Given the description of an element on the screen output the (x, y) to click on. 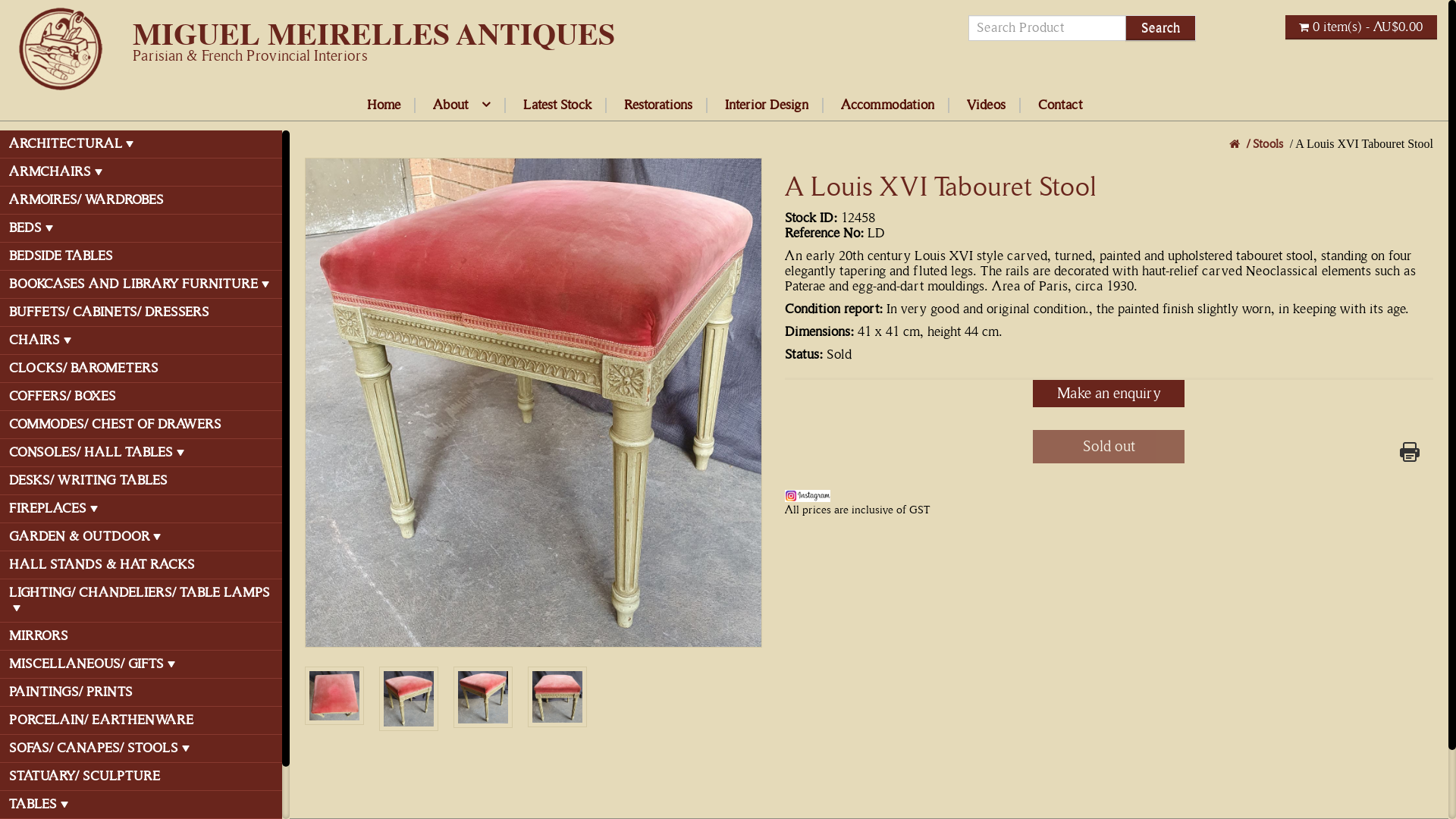
About Element type: text (461, 104)
COMMODES/ CHEST OF DRAWERS Element type: text (141, 425)
Make an enquiry Element type: text (1108, 393)
MISCELLANEOUS/ GIFTS Element type: text (141, 664)
A Louis XVI Tabouret Stool -20211014_125447.jpg Element type: hover (533, 402)
Latest Stock Element type: text (557, 104)
Videos Element type: text (985, 104)
CLOCKS/ BAROMETERS Element type: text (141, 368)
Search Element type: text (1160, 27)
 / A Louis XVI Tabouret Stool Element type: text (1359, 143)
A Louis XVI Tabouret Stool -20211014_125427.jpg Element type: hover (556, 696)
PAINTINGS/ PRINTS Element type: text (141, 692)
Interior Design Element type: text (767, 104)
A Louis XVI Tabouret Stool -20211014_125439.jpg Element type: hover (408, 698)
GARDEN & OUTDOOR Element type: text (141, 537)
ARMOIRES/ WARDROBES Element type: text (141, 200)
BEDSIDE TABLES Element type: text (141, 256)
COFFERS/ BOXES Element type: text (141, 396)
Contact Element type: text (1059, 104)
FIREPLACES Element type: text (141, 509)
MIGUEL MEIRELLES ANTIQUES Element type: hover (60, 48)
STATUARY/ SCULPTURE Element type: text (141, 776)
DESKS/ WRITING TABLES Element type: text (141, 481)
BOOKCASES AND LIBRARY FURNITURE Element type: text (141, 284)
 / Stools Element type: text (1263, 144)
BEDS Element type: text (141, 228)
A Louis XVI Tabouret Stool -20211014_125436.jpg Element type: hover (483, 696)
BUFFETS/ CABINETS/ DRESSERS Element type: text (141, 312)
Accommodation Element type: text (887, 104)
Sold out Element type: text (1108, 446)
A Louis XVI Tabouret Stool -20211014_125427.jpg Element type: hover (557, 696)
A Louis XVI Tabouret Stool -20211014_125450.jpg Element type: hover (334, 695)
Home Element type: text (384, 104)
0 item(s) - AU$0.00 Element type: text (1361, 27)
CHAIRS Element type: text (141, 340)
A Louis XVI Tabouret Stool -20211014_125439.jpg Element type: hover (408, 698)
Restorations Element type: text (657, 104)
ARMCHAIRS Element type: text (141, 172)
HALL STANDS & HAT RACKS Element type: text (141, 565)
PORCELAIN/ EARTHENWARE Element type: text (141, 720)
A Louis XVI Tabouret Stool -20211014_125436.jpg Element type: hover (482, 696)
ARCHITECTURAL Element type: text (141, 144)
SOFAS/ CANAPES/ STOOLS Element type: text (141, 748)
CONSOLES/ HALL TABLES Element type: text (141, 453)
MIRRORS Element type: text (141, 636)
MIGUEL MEIRELLES ANTIQUES Element type: text (373, 35)
A Louis XVI Tabouret Stool -20211014_125450.jpg Element type: hover (334, 695)
A Louis XVI Tabouret Stool -20211014_125447.jpg Element type: hover (533, 402)
Print Element type: text (1409, 451)
LIGHTING/ CHANDELIERS/ TABLE LAMPS Element type: text (141, 601)
